Given the description of an element on the screen output the (x, y) to click on. 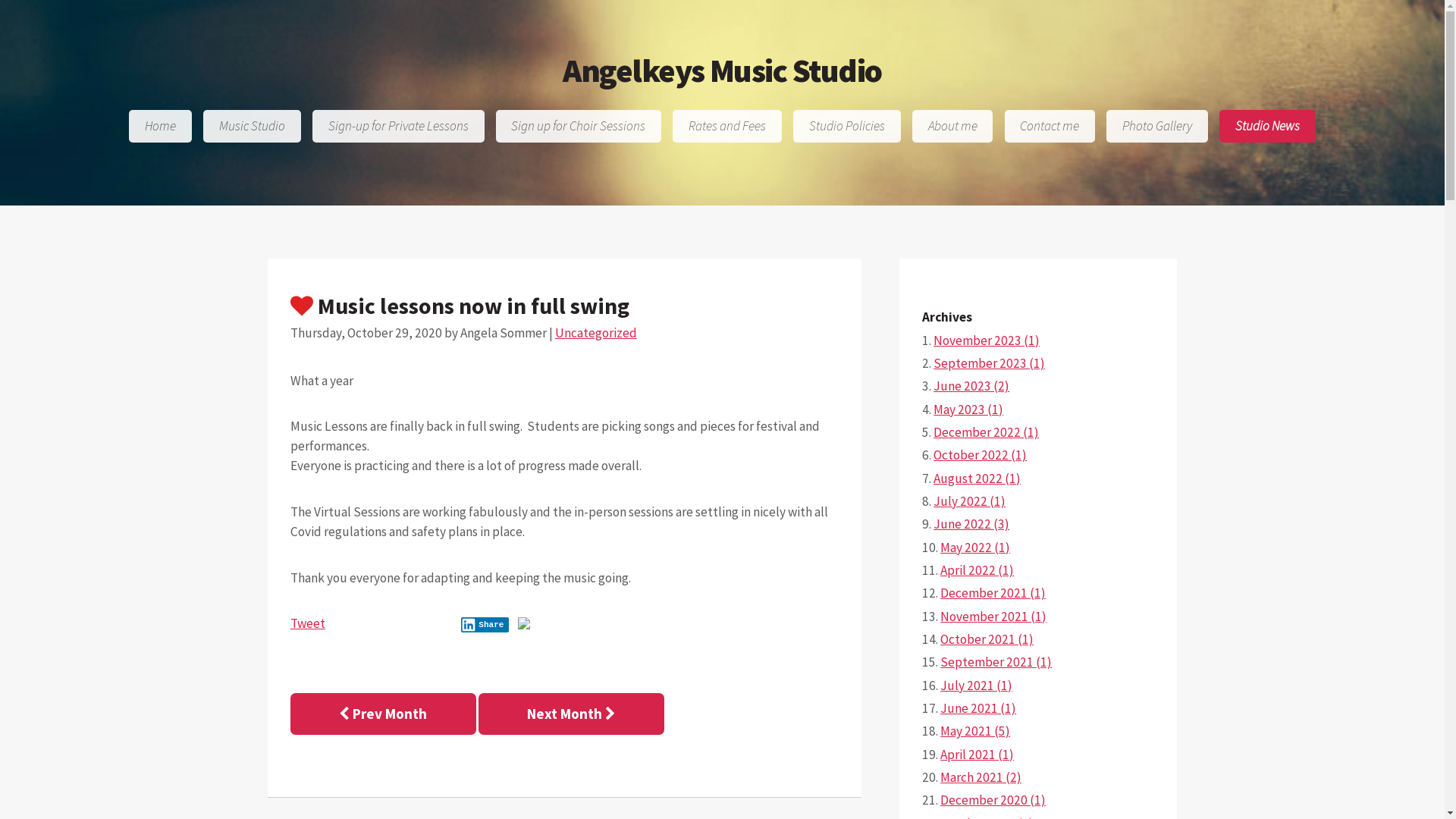
Rates and Fees Element type: text (726, 125)
May 2022 (1) Element type: text (975, 547)
June 2022 (3) Element type: text (971, 523)
September 2021 (1) Element type: text (995, 661)
Tweet Element type: text (307, 623)
July 2021 (1) Element type: text (976, 685)
June 2023 (2) Element type: text (971, 385)
Contact me Element type: text (1049, 125)
Sign-up for Private Lessons Element type: text (398, 125)
July 2022 (1) Element type: text (969, 500)
September 2023 (1) Element type: text (988, 362)
Uncategorized Element type: text (596, 332)
December 2020 (1) Element type: text (992, 799)
November 2023 (1) Element type: text (986, 340)
May 2023 (1) Element type: text (968, 409)
Share Element type: text (485, 624)
October 2022 (1) Element type: text (979, 454)
Sign up for Choir Sessions Element type: text (578, 125)
August 2022 (1) Element type: text (976, 478)
About me Element type: text (952, 125)
December 2021 (1) Element type: text (992, 592)
Photo Gallery Element type: text (1157, 125)
Prev Month Element type: text (383, 713)
Home Element type: text (159, 125)
December 2022 (1) Element type: text (985, 431)
April 2022 (1) Element type: text (976, 569)
June 2021 (1) Element type: text (978, 707)
Music lessons now in full swing Element type: text (564, 305)
October 2021 (1) Element type: text (986, 638)
March 2021 (2) Element type: text (980, 776)
April 2021 (1) Element type: text (976, 754)
Music Studio Element type: text (252, 125)
November 2021 (1) Element type: text (993, 616)
Next Month Element type: text (571, 713)
May 2021 (5) Element type: text (975, 730)
Studio News Element type: text (1267, 125)
Studio Policies Element type: text (846, 125)
